Given the description of an element on the screen output the (x, y) to click on. 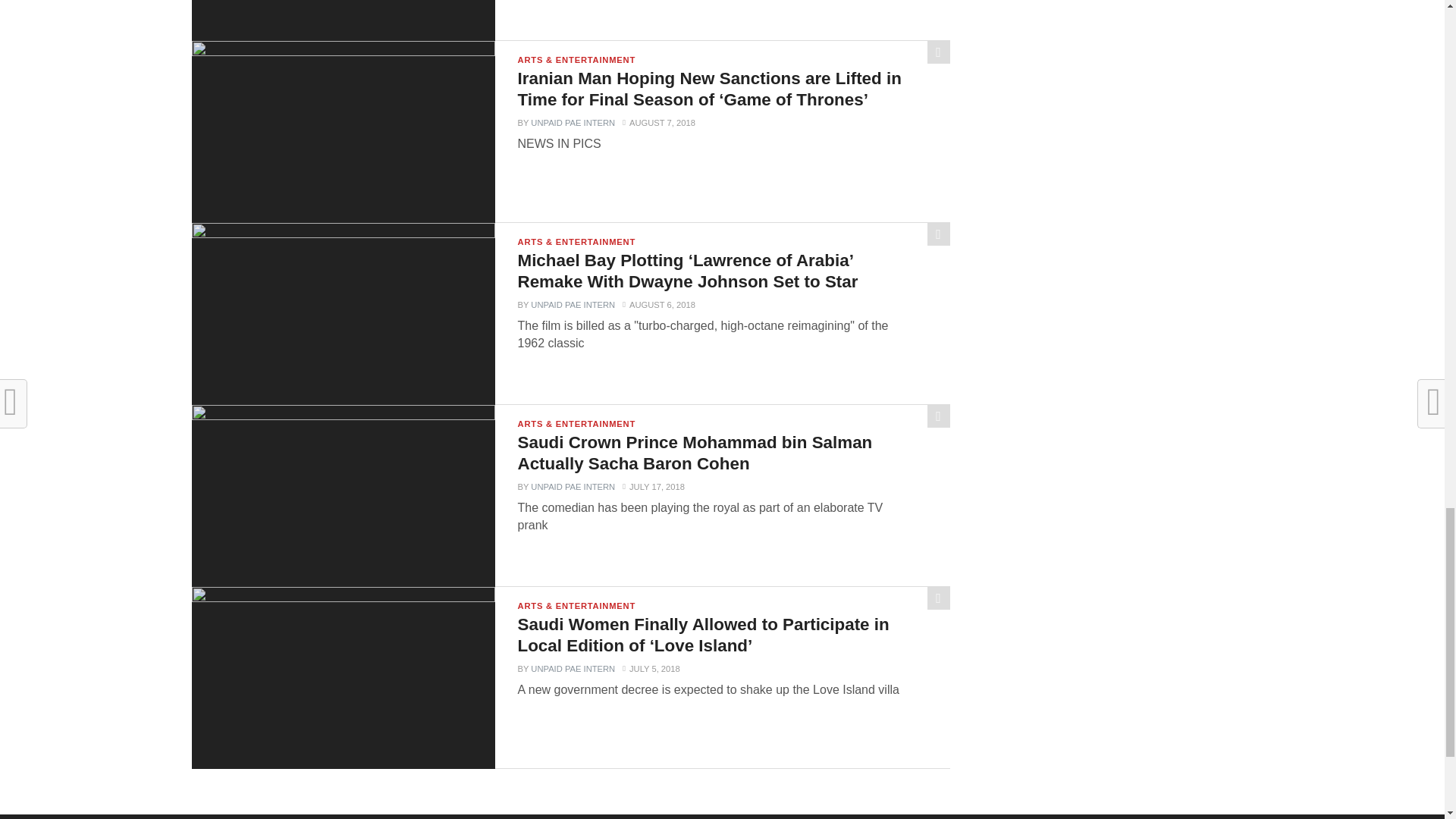
Posts by Unpaid PAE Intern (572, 122)
